Given the description of an element on the screen output the (x, y) to click on. 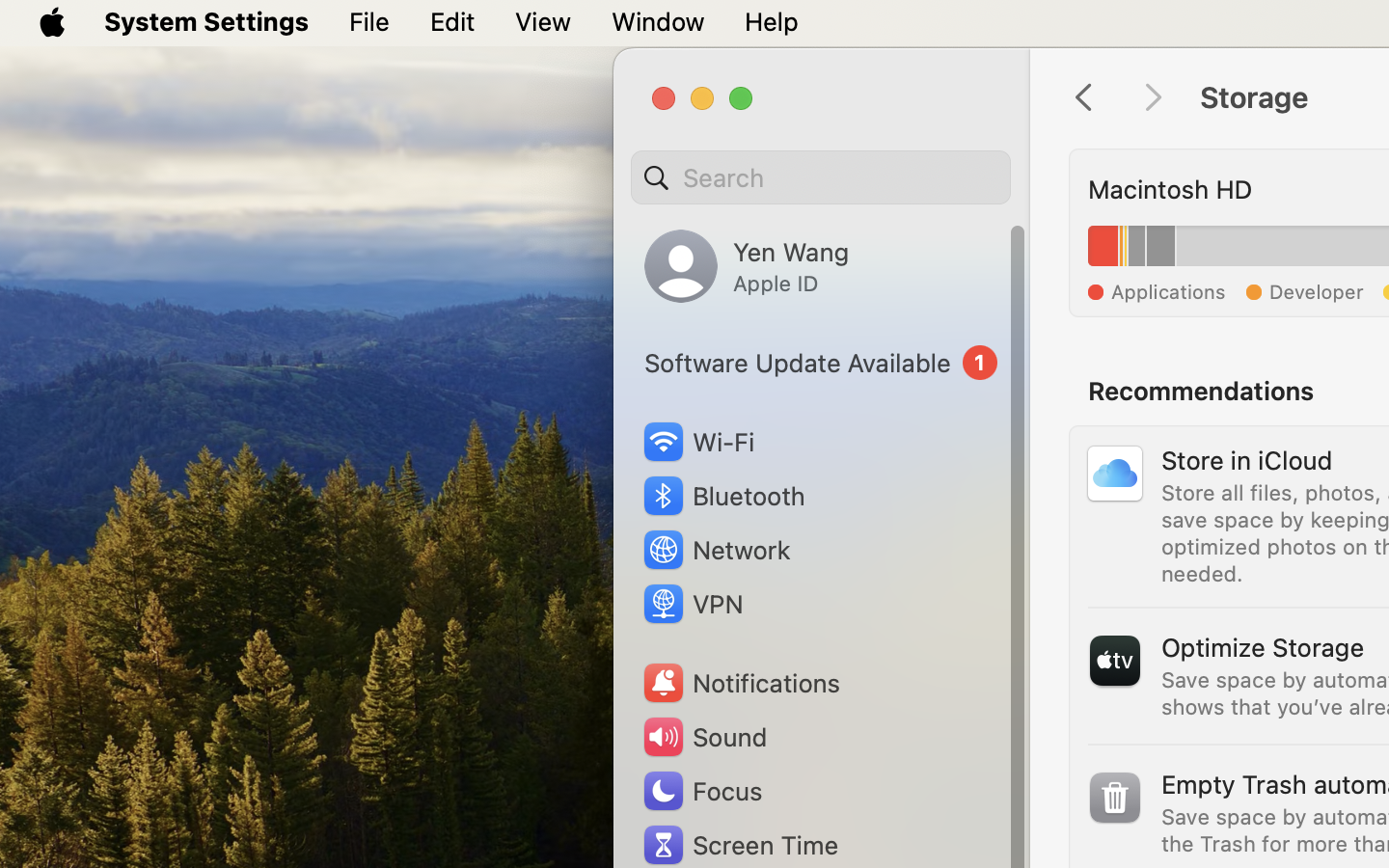
Notifications Element type: AXStaticText (740, 682)
Wi‑Fi Element type: AXStaticText (697, 441)
Bluetooth Element type: AXStaticText (723, 495)
1 Element type: AXStaticText (820, 362)
Macintosh HD Element type: AXStaticText (1170, 188)
